Given the description of an element on the screen output the (x, y) to click on. 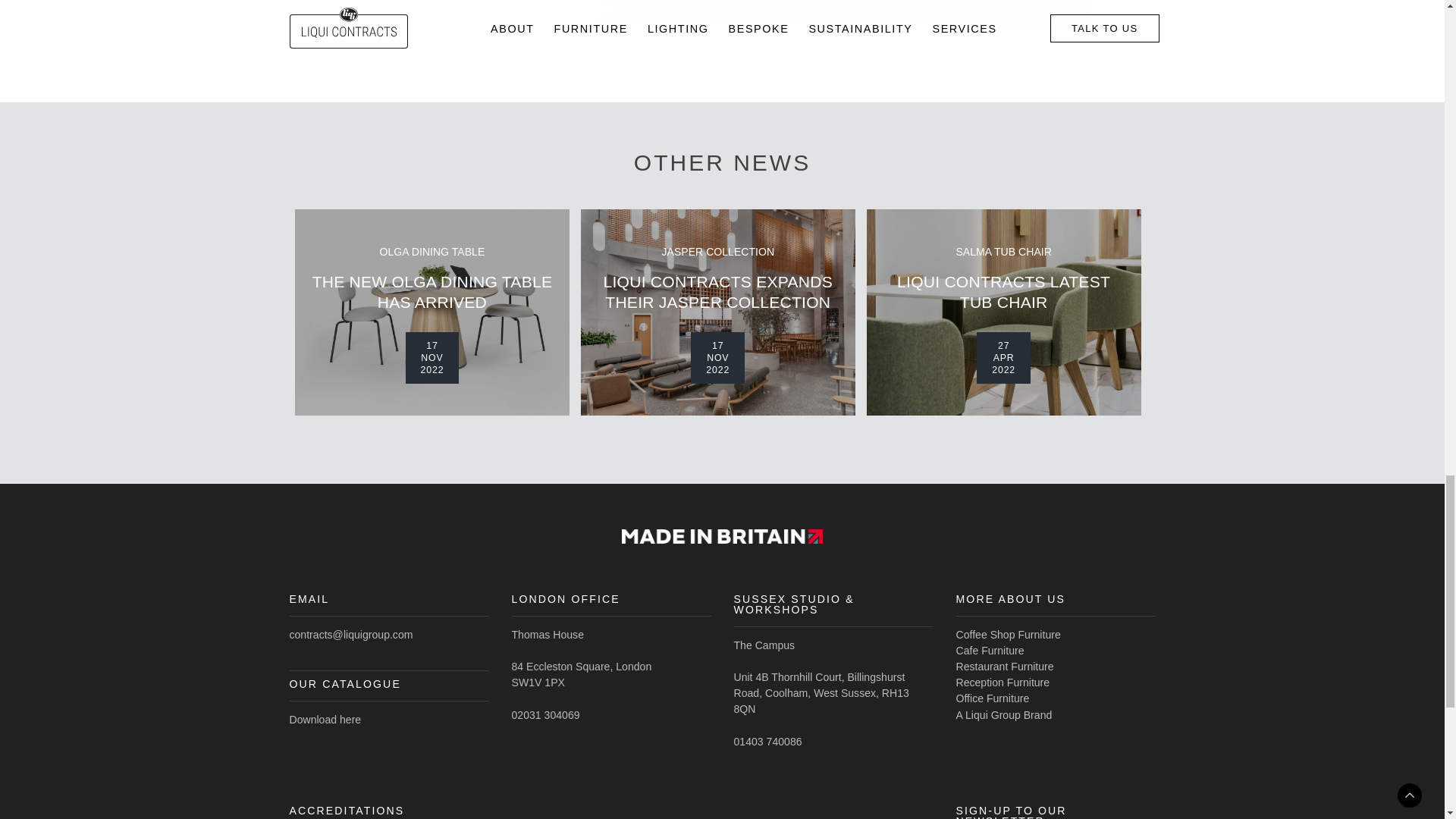
Restaurant Furniture (1003, 666)
Download here (325, 719)
Coffee Shop Furniture (1007, 634)
Reception Furniture (1002, 682)
Office Furniture (992, 698)
A Liqui Group Brand (1003, 714)
Cafe Furniture (989, 650)
